Given the description of an element on the screen output the (x, y) to click on. 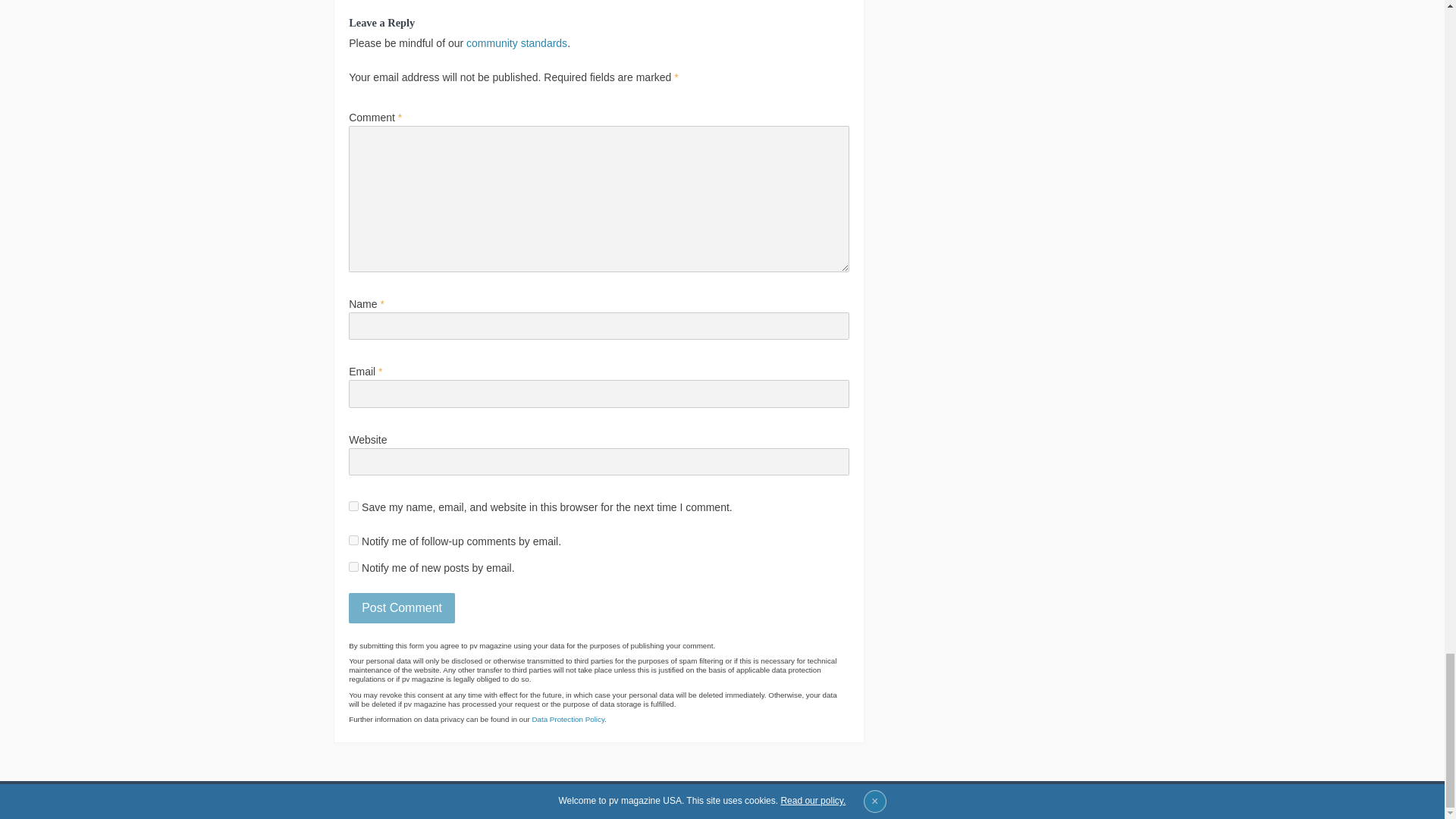
Post Comment (401, 607)
subscribe (353, 566)
subscribe (353, 540)
yes (353, 506)
